Given the description of an element on the screen output the (x, y) to click on. 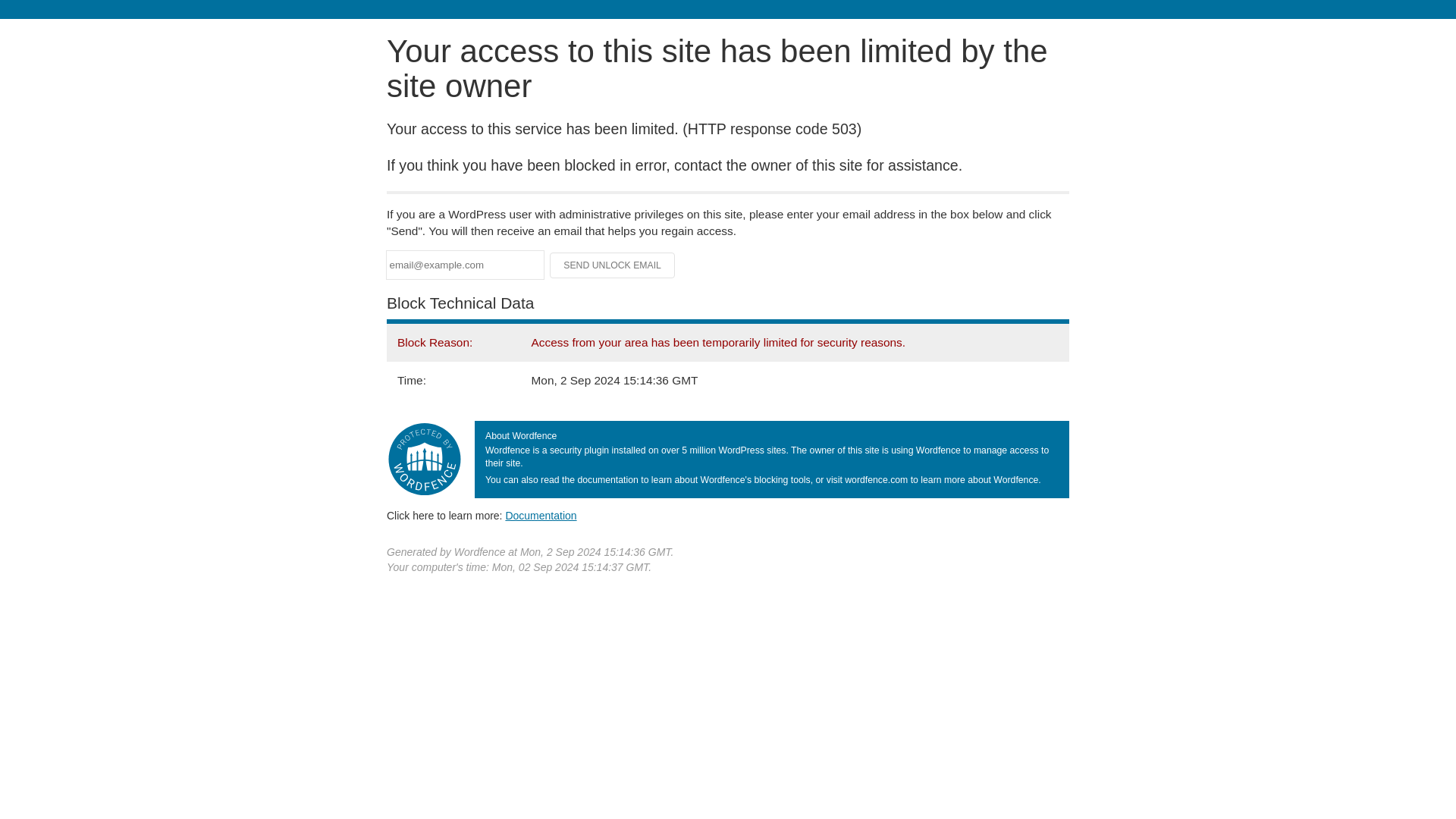
Send Unlock Email (612, 265)
Documentation (540, 515)
Send Unlock Email (612, 265)
